Given the description of an element on the screen output the (x, y) to click on. 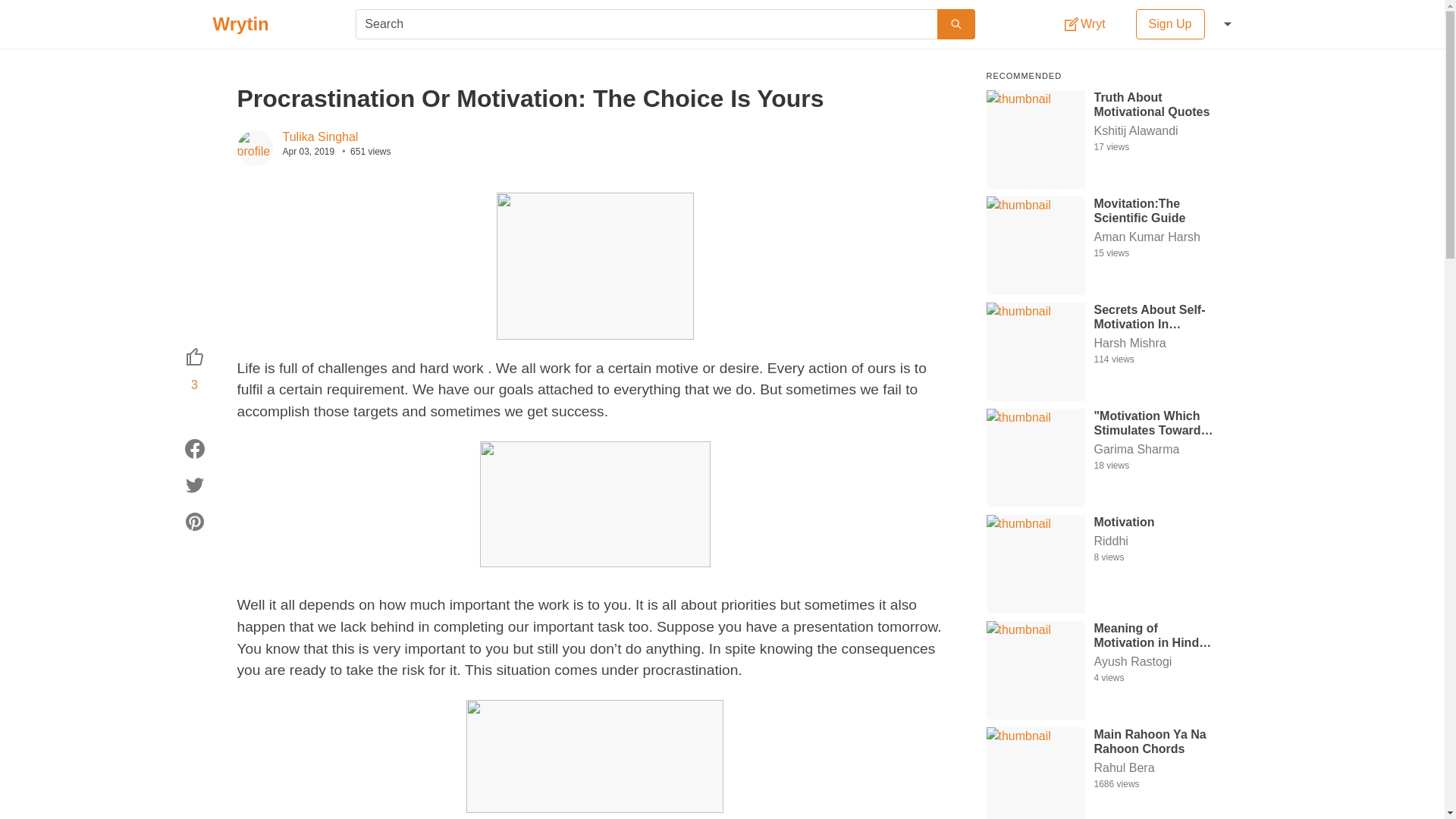
Secrets About Self-Motivation In Entrepreneurs. (1152, 316)
Sign Up (1170, 24)
Wrytin (240, 24)
Movitation:The Scientific Guide (1152, 209)
Aman Kumar Harsh (1152, 237)
Main Rahoon Ya Na Rahoon Chords (1152, 740)
Harsh Mishra (1152, 343)
Main Rahoon Ya Na Rahoon Chords (1152, 740)
Riddhi (1152, 541)
Secrets About Self-Motivation In Entrepreneurs. (1152, 316)
